Given the description of an element on the screen output the (x, y) to click on. 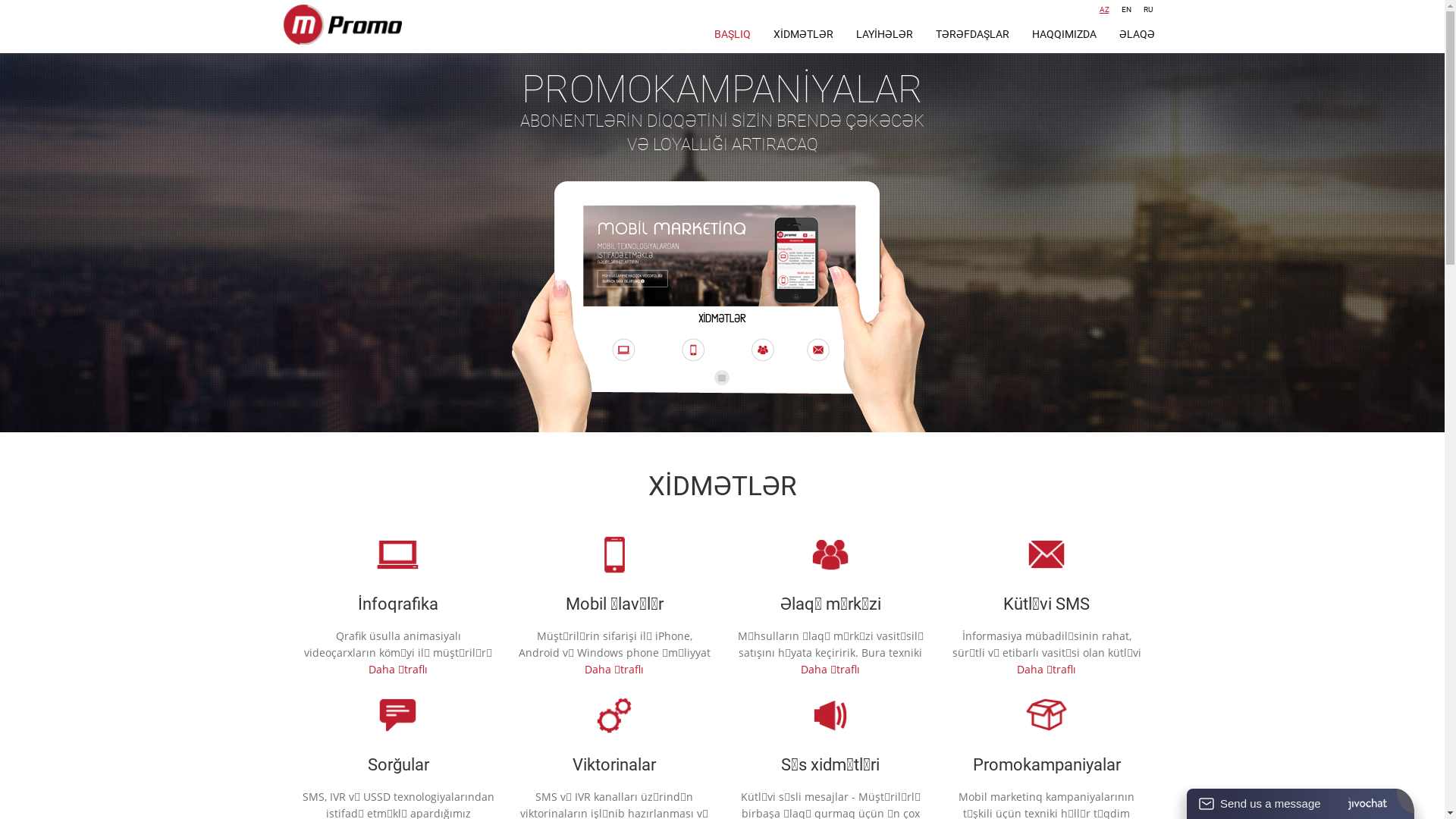
RU Element type: text (1147, 9)
AZ Element type: text (1104, 9)
EN Element type: text (1125, 9)
HAQQIMIZDA Element type: text (1063, 34)
